Given the description of an element on the screen output the (x, y) to click on. 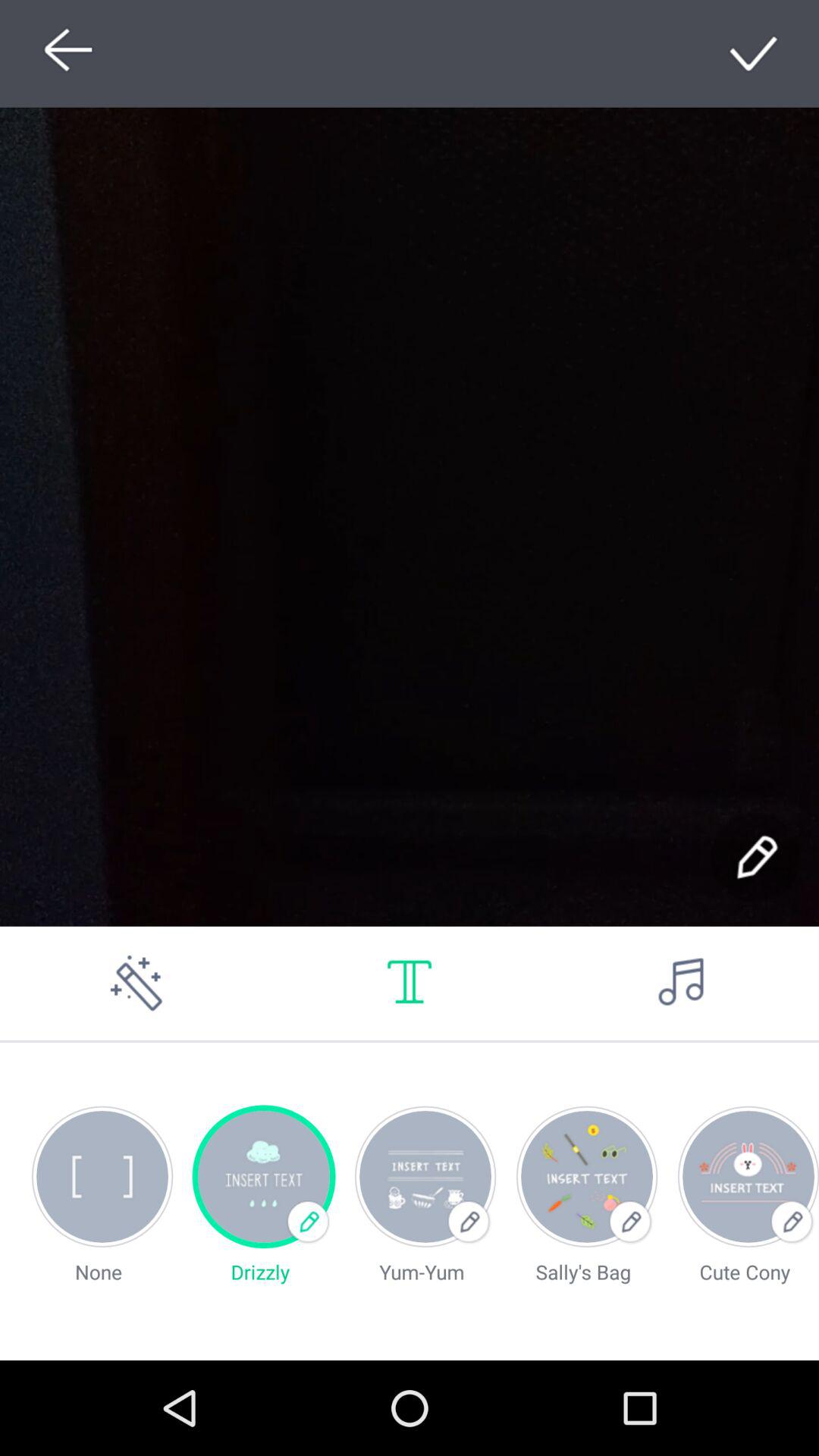
valid (754, 53)
